Given the description of an element on the screen output the (x, y) to click on. 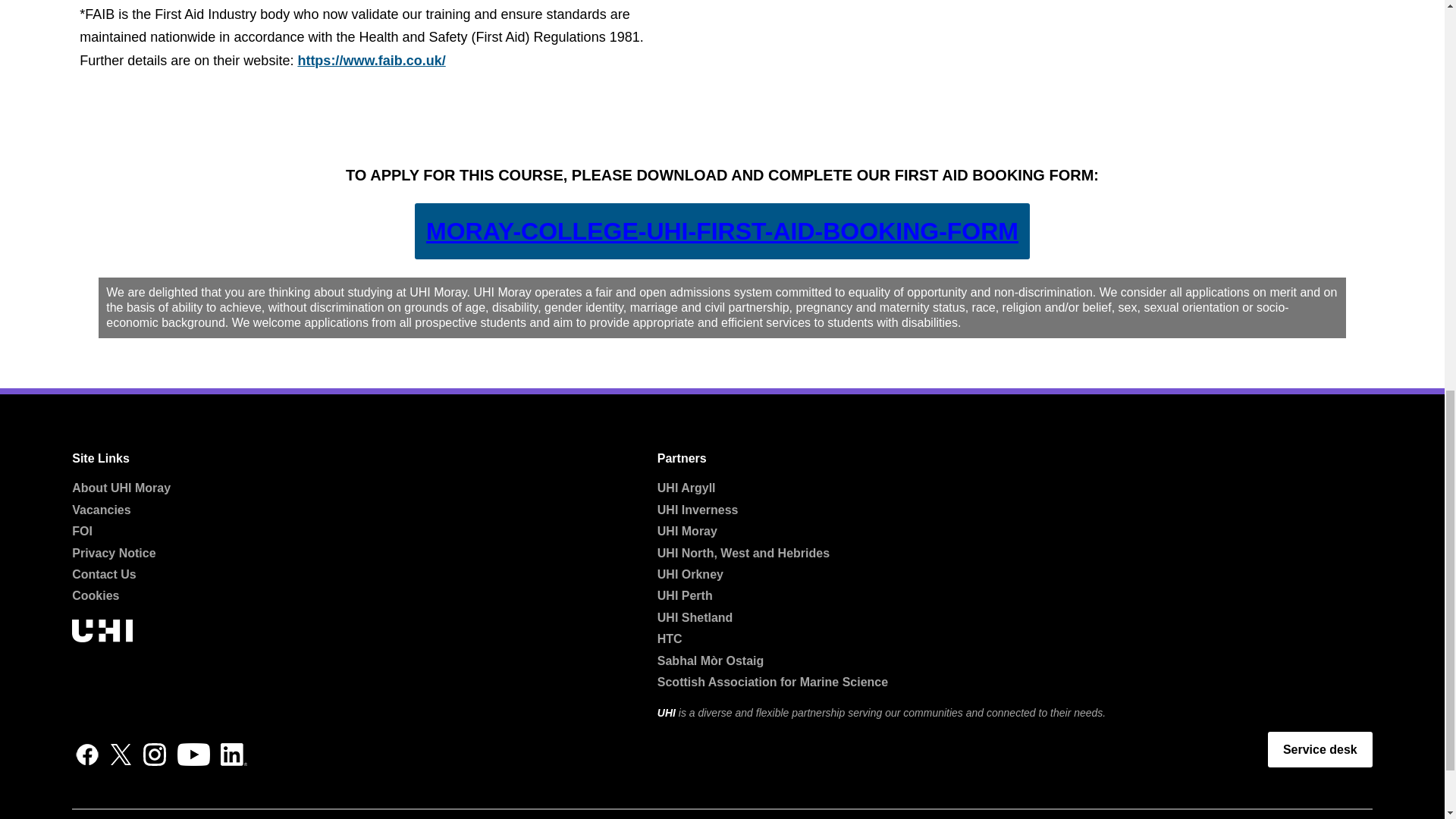
UHI Perth (685, 594)
Scottish Association for Marine Science UHI (773, 681)
UHI Moray (687, 530)
UHI North, West and Hebrides (743, 553)
UHI Inverness (698, 509)
HTC (670, 638)
UHI Argyll (687, 487)
UHI Shetland (695, 617)
Orkney College UHI (690, 574)
